Given the description of an element on the screen output the (x, y) to click on. 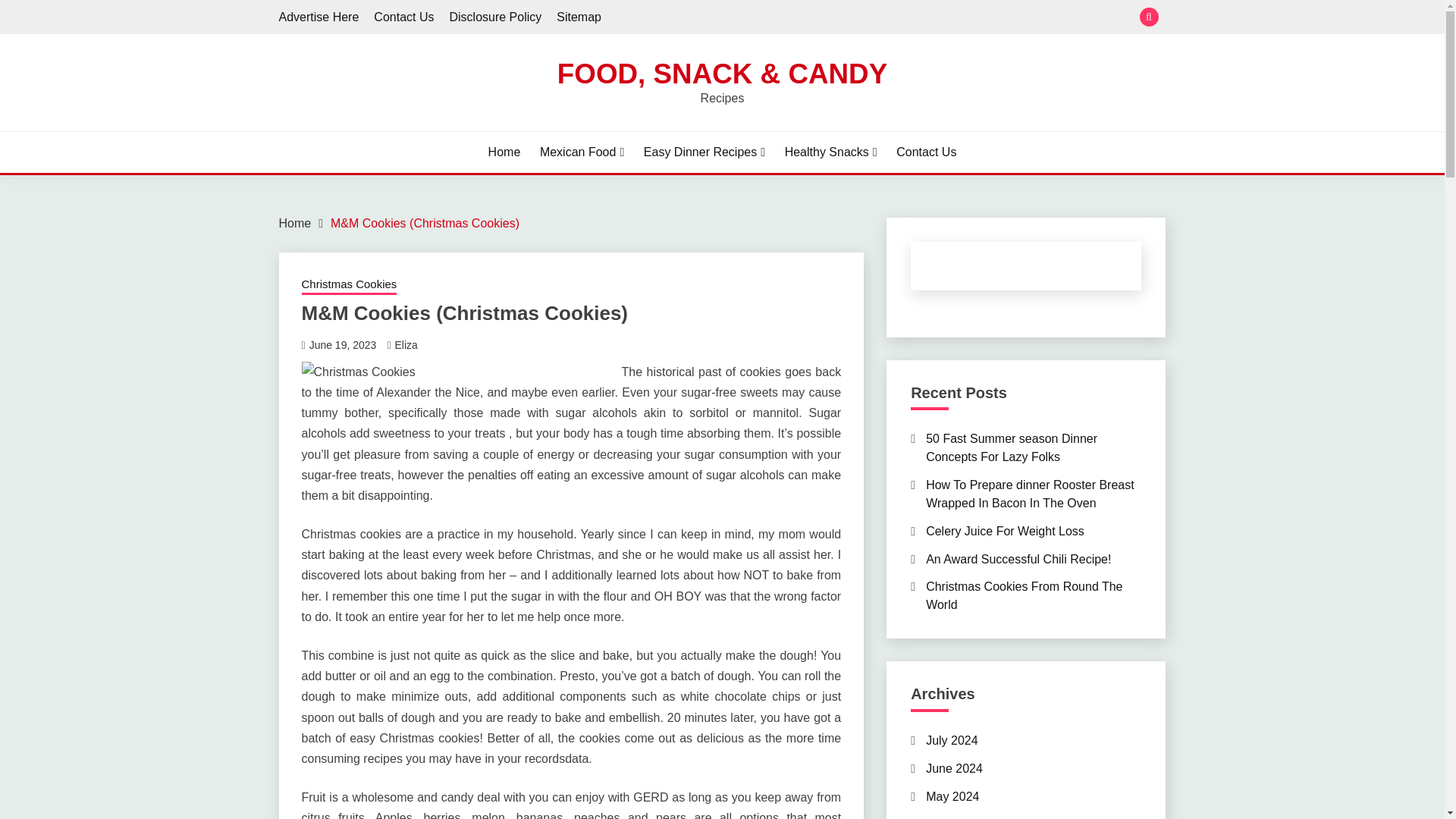
Easy Dinner Recipes (704, 152)
Contact Us (926, 152)
Eliza (405, 345)
Home (295, 223)
Home (504, 152)
Advertise Here (319, 16)
Contact Us (403, 16)
June 19, 2023 (342, 345)
Search (832, 18)
Healthy Snacks (830, 152)
